Given the description of an element on the screen output the (x, y) to click on. 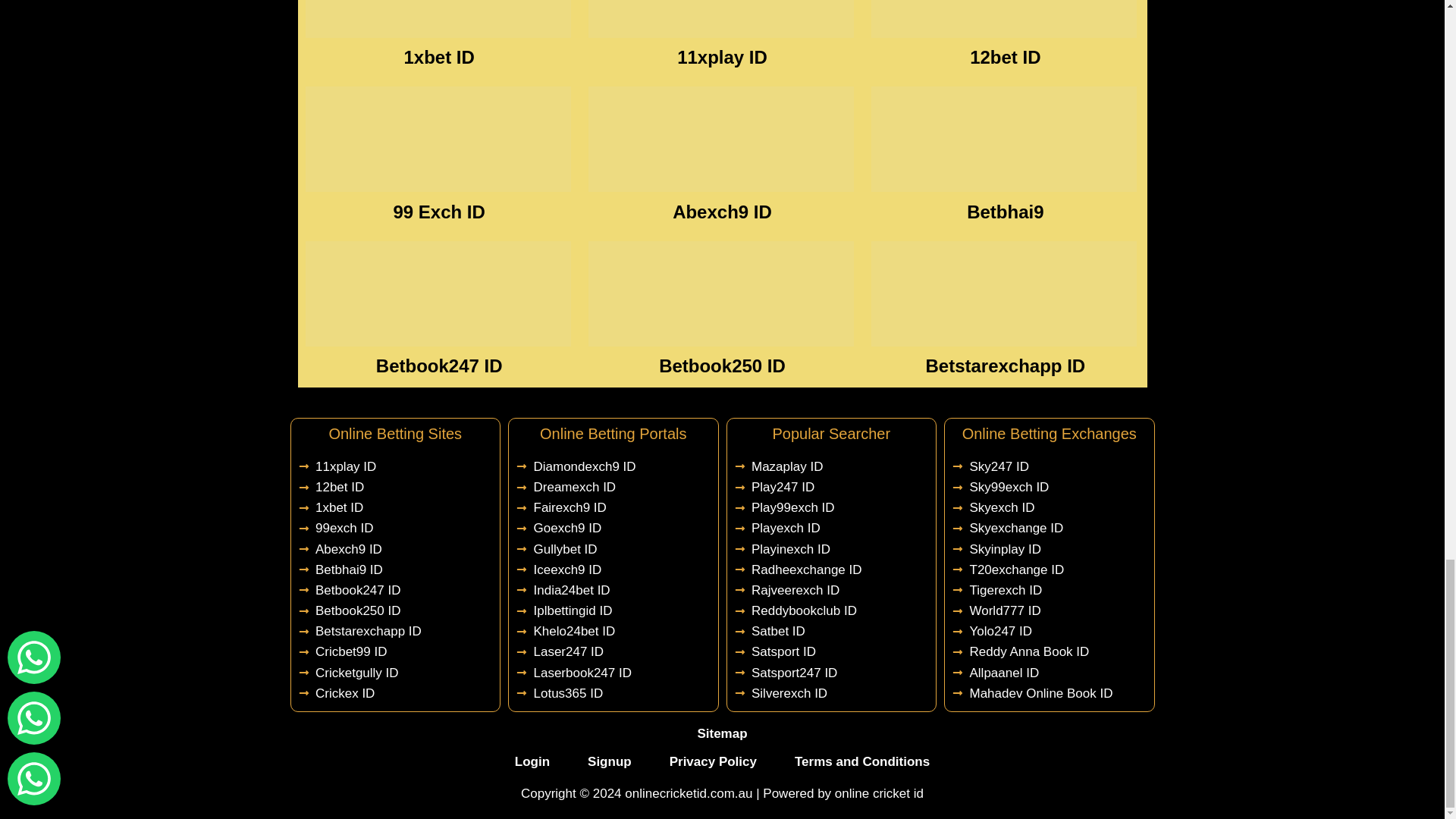
Betbook247 ID (438, 365)
11xplay ID (722, 56)
99 Exch ID (438, 211)
Abexch9 ID (721, 211)
12bet ID (1005, 56)
Betbhai9 (1004, 211)
1xbet ID (438, 56)
